Given the description of an element on the screen output the (x, y) to click on. 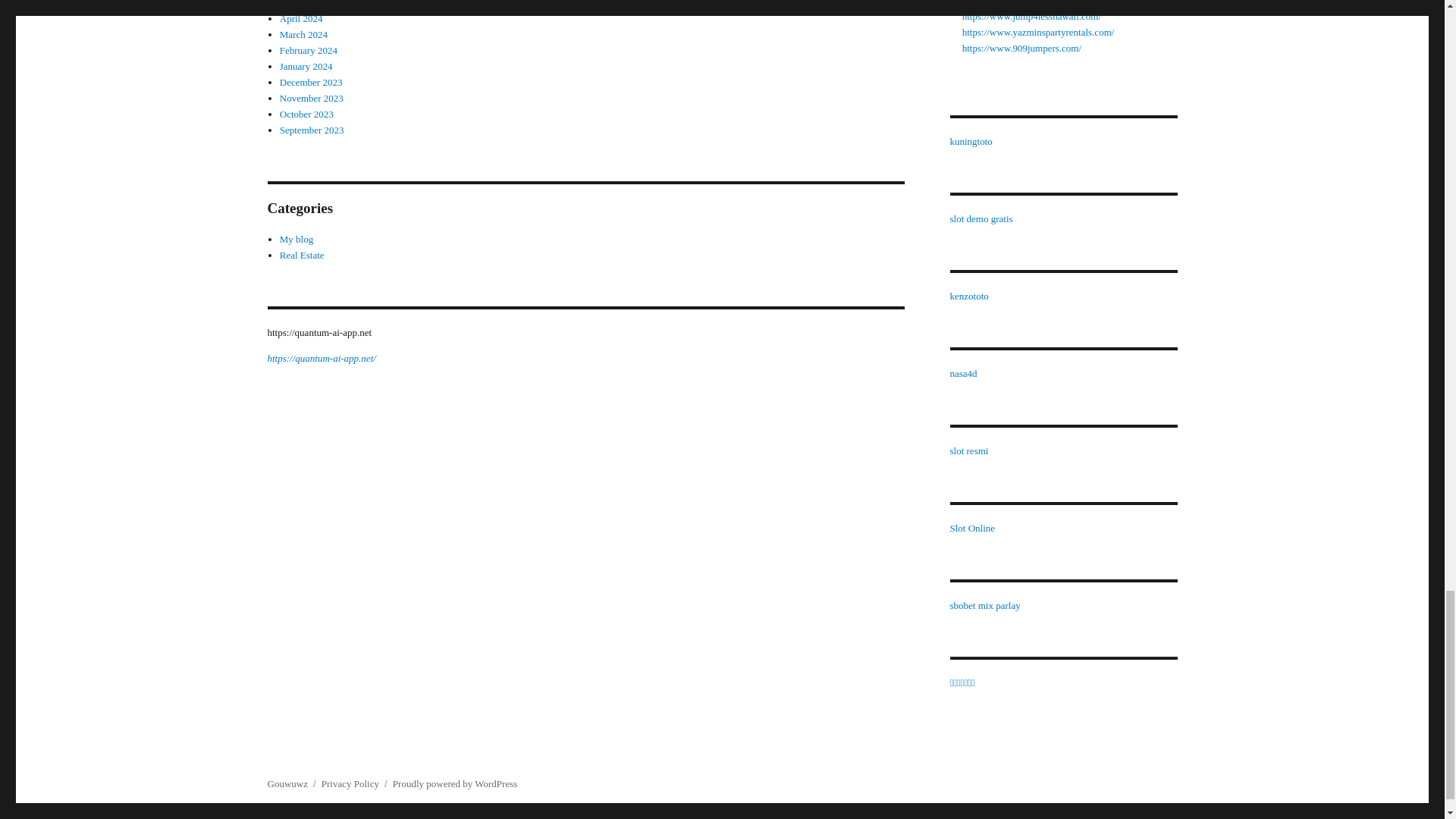
November 2023 (311, 98)
September 2023 (311, 129)
March 2024 (303, 34)
My blog (296, 238)
May 2024 (299, 4)
December 2023 (310, 81)
January 2024 (306, 66)
October 2023 (306, 113)
April 2024 (301, 18)
February 2024 (308, 50)
Real Estate (301, 255)
